Given the description of an element on the screen output the (x, y) to click on. 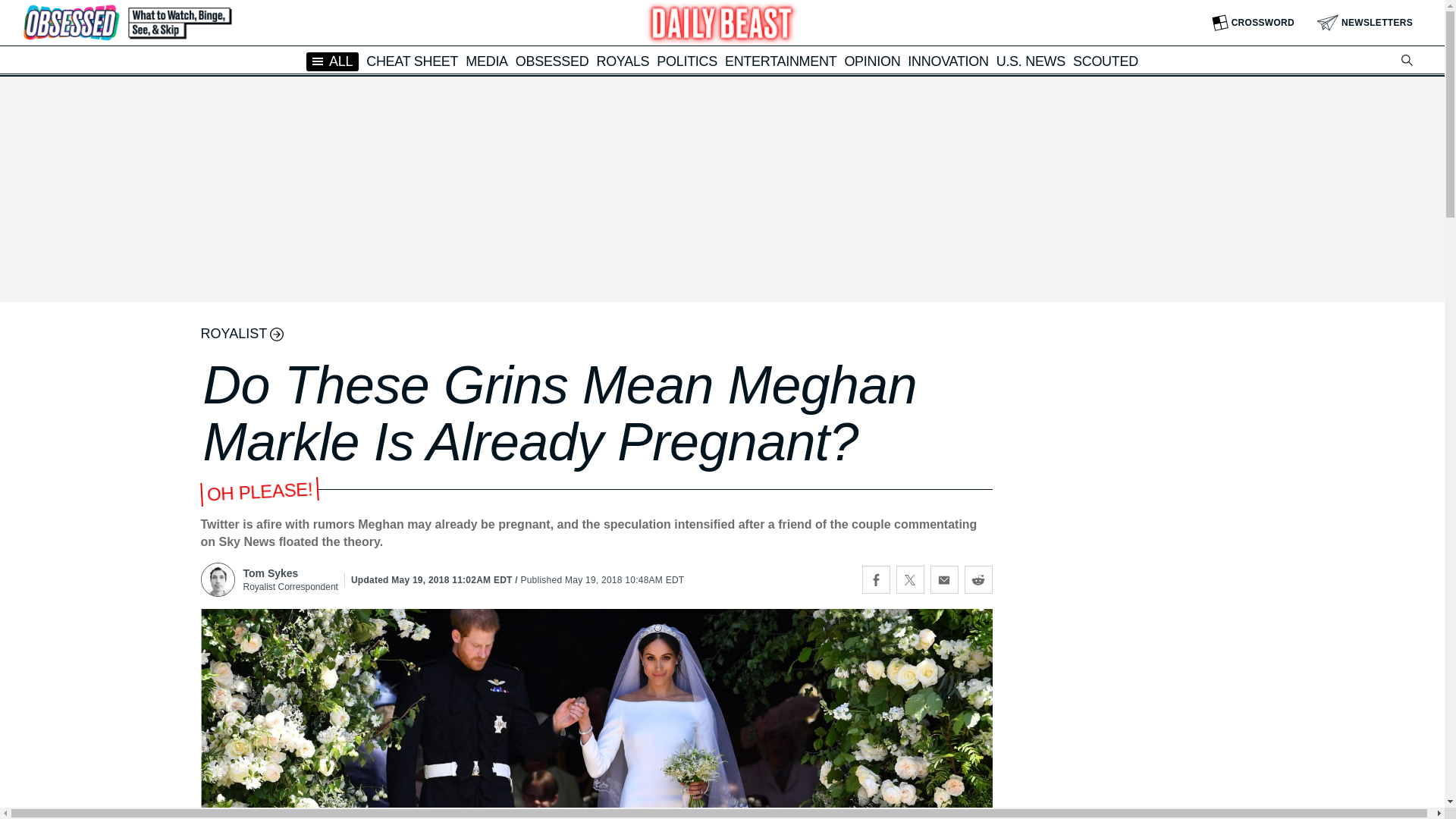
NEWSLETTERS (1364, 22)
SCOUTED (1105, 60)
CROSSWORD (1252, 22)
OBSESSED (552, 60)
OPINION (871, 60)
ALL (331, 60)
U.S. NEWS (1030, 60)
INNOVATION (947, 60)
POLITICS (686, 60)
CHEAT SHEET (412, 60)
